Given the description of an element on the screen output the (x, y) to click on. 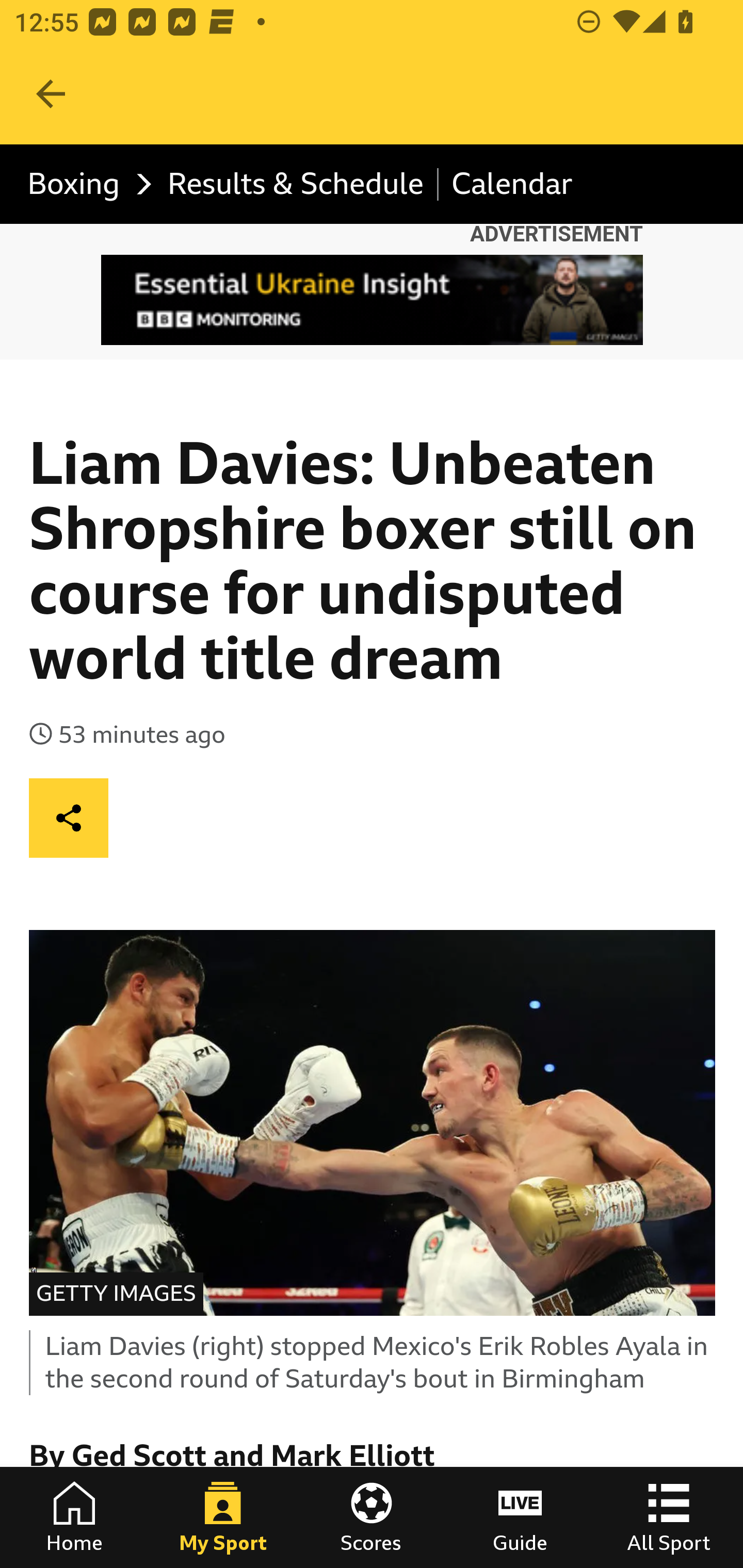
Navigate up (50, 93)
Boxing (84, 184)
Results & Schedule (295, 184)
Calendar (511, 184)
Share (68, 817)
Home (74, 1517)
Scores (371, 1517)
Guide (519, 1517)
All Sport (668, 1517)
